Given the description of an element on the screen output the (x, y) to click on. 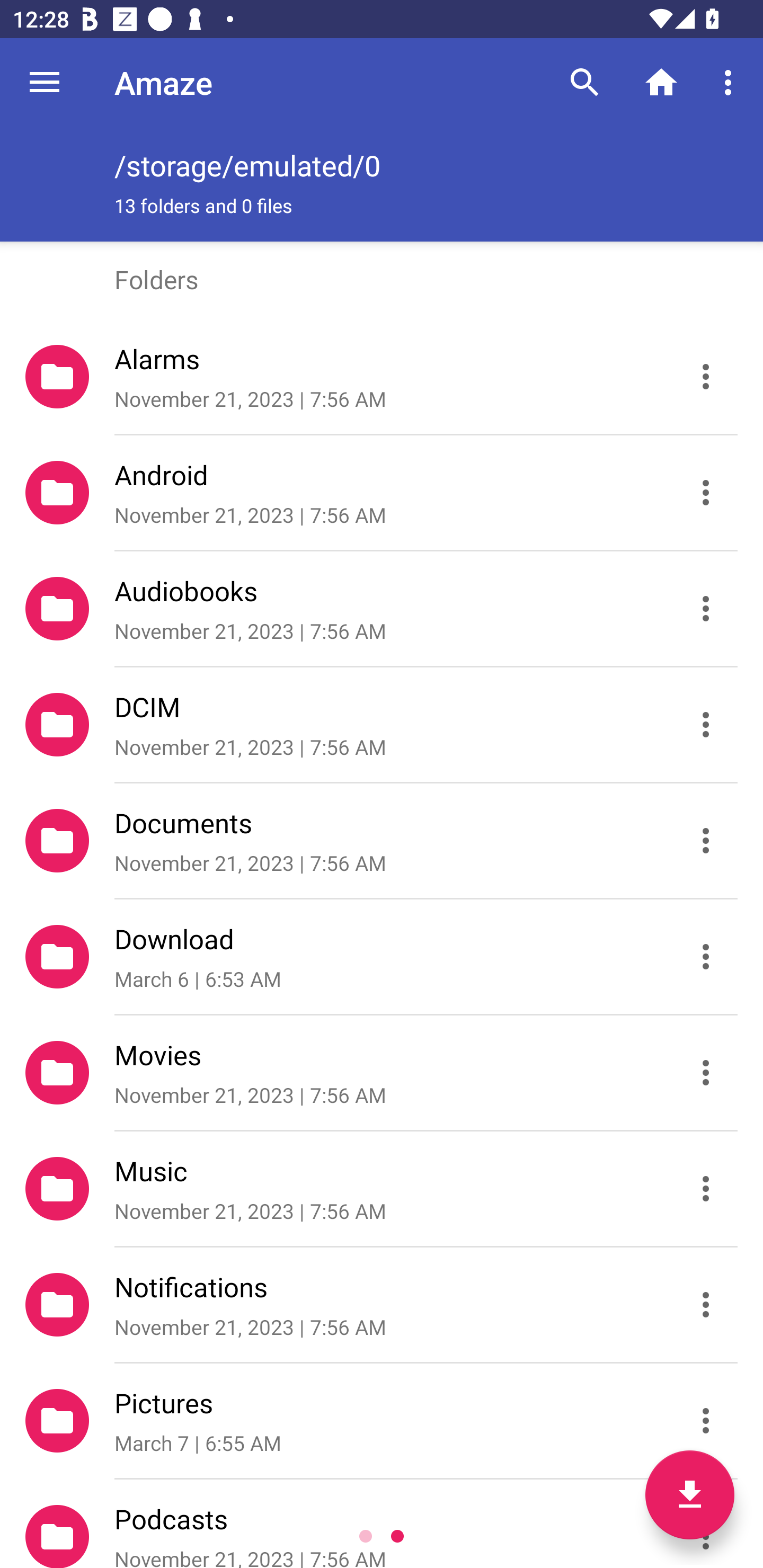
Navigate up (44, 82)
Search (585, 81)
Home (661, 81)
More options (731, 81)
Alarms November 21, 2023 | 7:56 AM (381, 376)
Android November 21, 2023 | 7:56 AM (381, 492)
Audiobooks November 21, 2023 | 7:56 AM (381, 608)
DCIM November 21, 2023 | 7:56 AM (381, 724)
Documents November 21, 2023 | 7:56 AM (381, 841)
Download March 6 | 6:53 AM (381, 957)
Movies November 21, 2023 | 7:56 AM (381, 1073)
Music November 21, 2023 | 7:56 AM (381, 1189)
Notifications November 21, 2023 | 7:56 AM (381, 1305)
Pictures March 7 | 6:55 AM (381, 1421)
Podcasts November 21, 2023 | 7:56 AM (381, 1524)
